Given the description of an element on the screen output the (x, y) to click on. 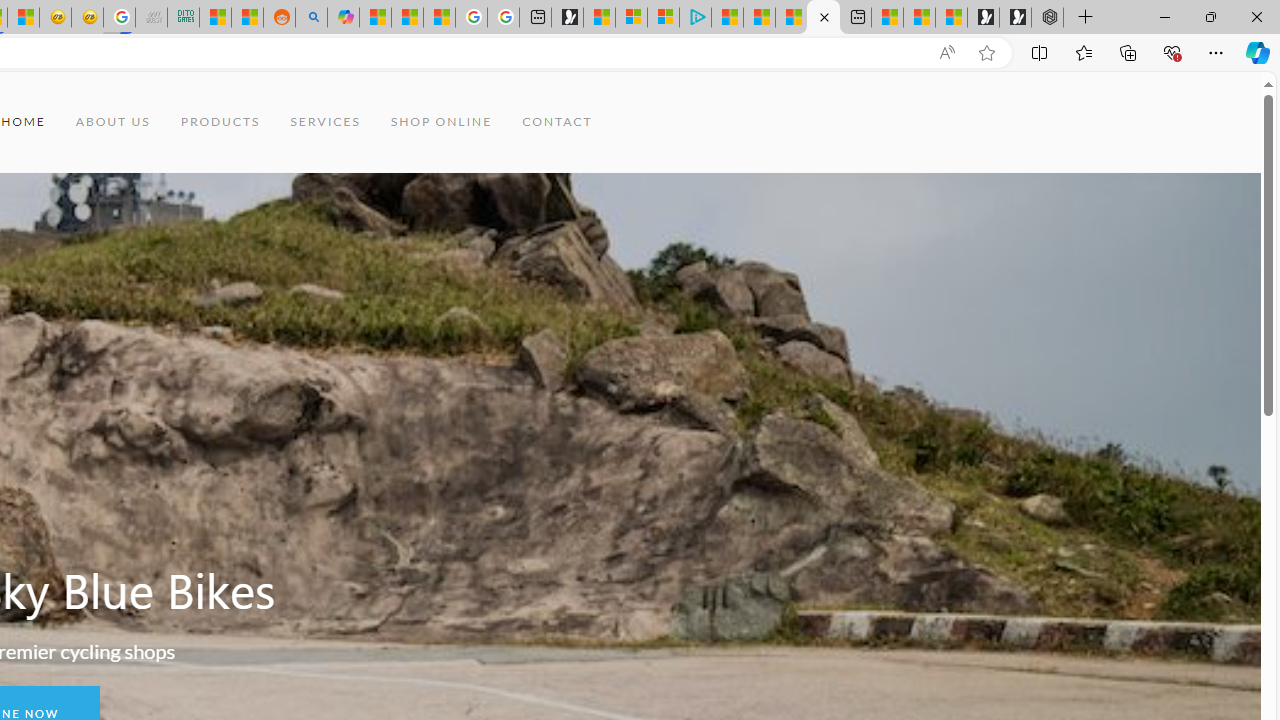
SERVICES (325, 122)
ABOUT US (113, 122)
SHOP ONLINE (441, 122)
Utah sues federal government - Search (310, 17)
Microsoft Copilot in Bing (343, 17)
Navy Quest (151, 17)
